Given the description of an element on the screen output the (x, y) to click on. 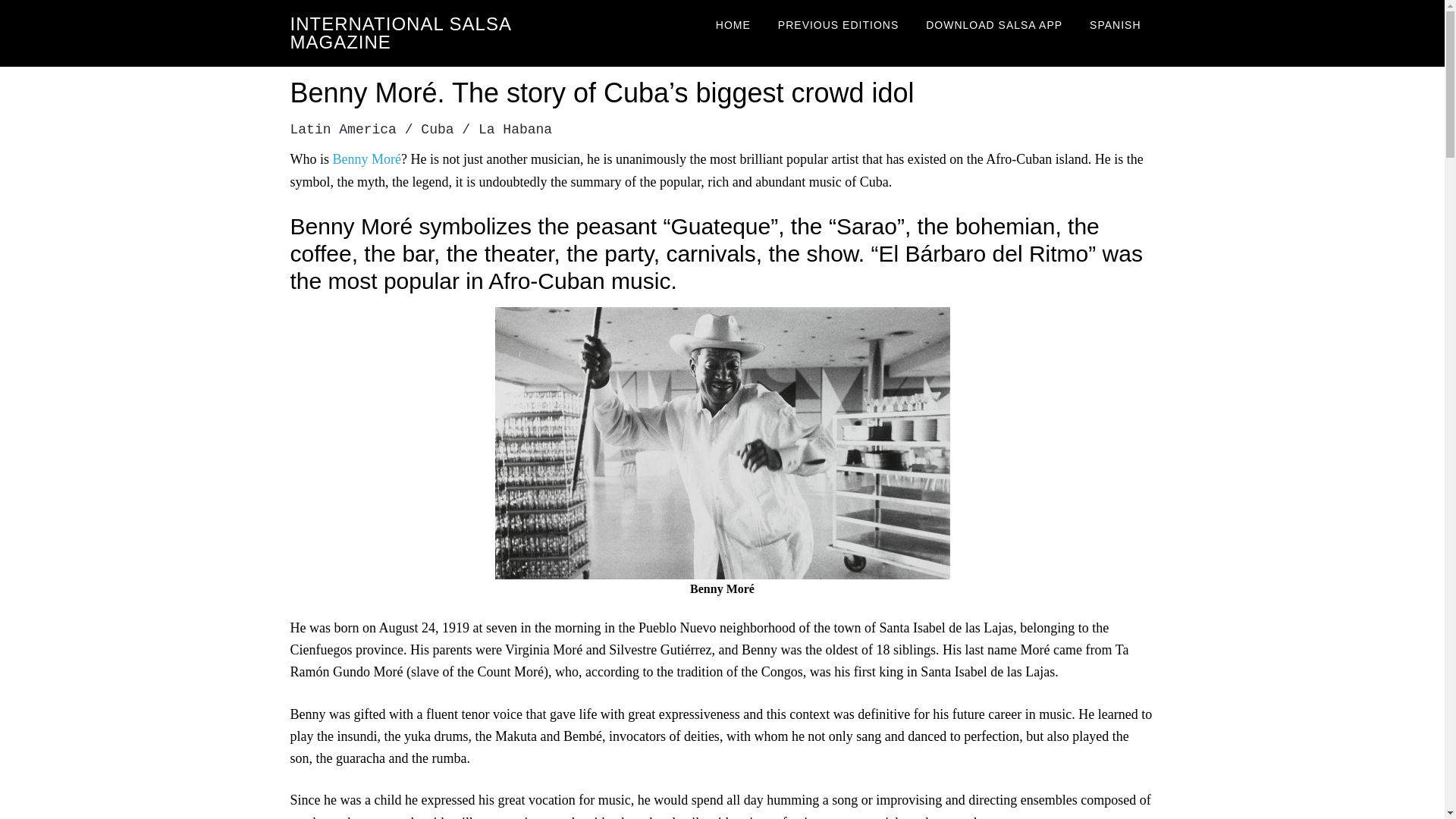
INTERNATIONAL SALSA MAGAZINE (400, 32)
PREVIOUS EDITIONS (838, 24)
HOME (732, 24)
